Given the description of an element on the screen output the (x, y) to click on. 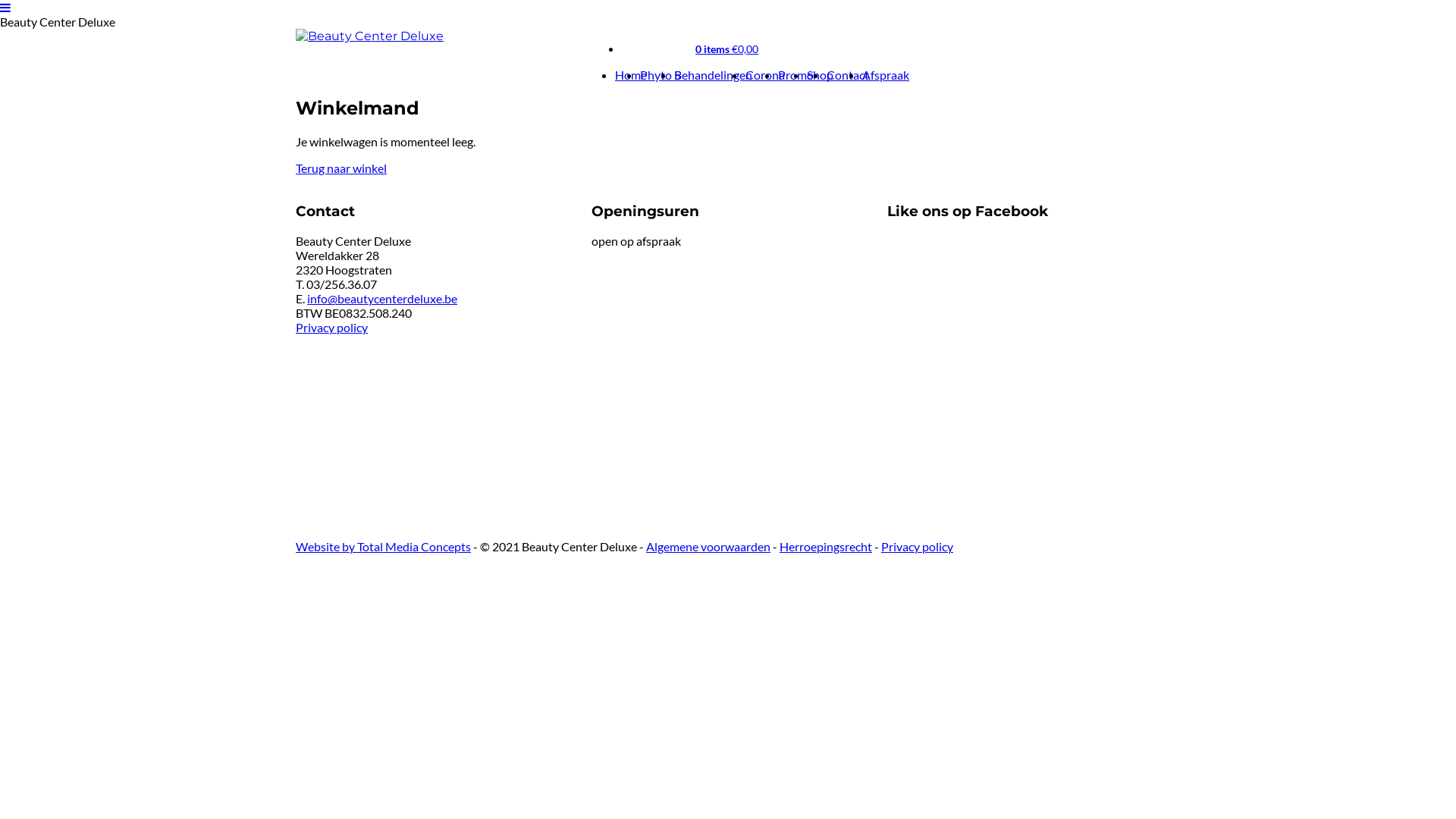
Privacy policy Element type: text (331, 327)
Behandelingen Element type: text (713, 74)
Afspraak Element type: text (885, 74)
Privacy policy Element type: text (917, 546)
Algemene voorwaarden Element type: text (708, 546)
Phyto 5 Element type: text (660, 74)
WordPress maintenance mode Element type: text (891, 235)
info@beautycenterdeluxe.be Element type: text (382, 298)
Shop Element type: text (819, 74)
Website by Total Media Concepts Element type: text (382, 546)
Herroepingsrecht Element type: text (825, 546)
Promo Element type: text (795, 74)
Home Element type: text (630, 74)
Corona Element type: text (764, 74)
Contact Element type: text (847, 74)
Terug naar winkel Element type: text (340, 167)
